Given the description of an element on the screen output the (x, y) to click on. 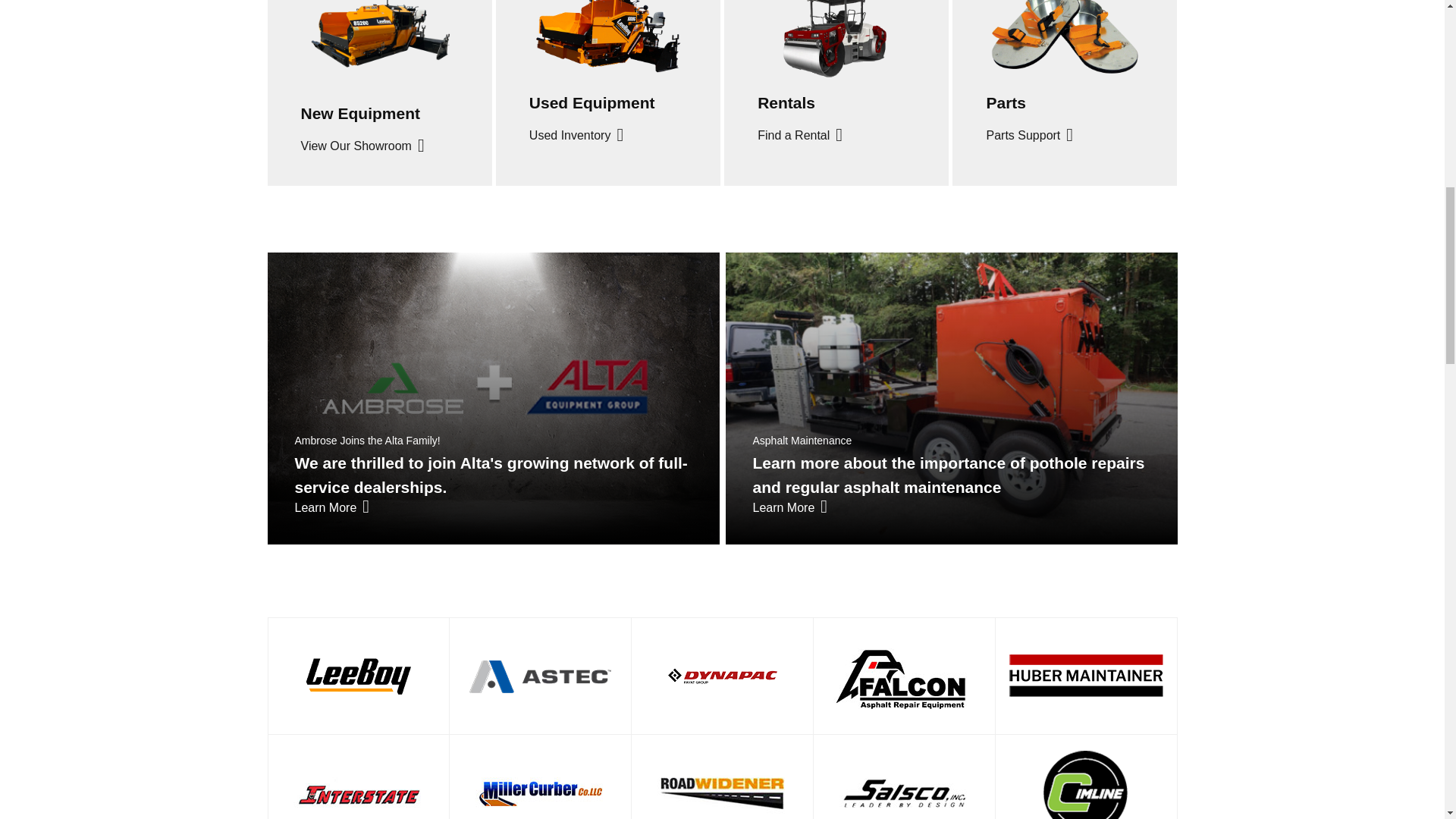
Find a Rental (800, 135)
Rentals (786, 102)
View Our Showroom (361, 146)
Parts Support (1029, 135)
Used Equipment (592, 102)
New Equipment (359, 113)
Parts (1005, 102)
Used Inventory (576, 135)
